Given the description of an element on the screen output the (x, y) to click on. 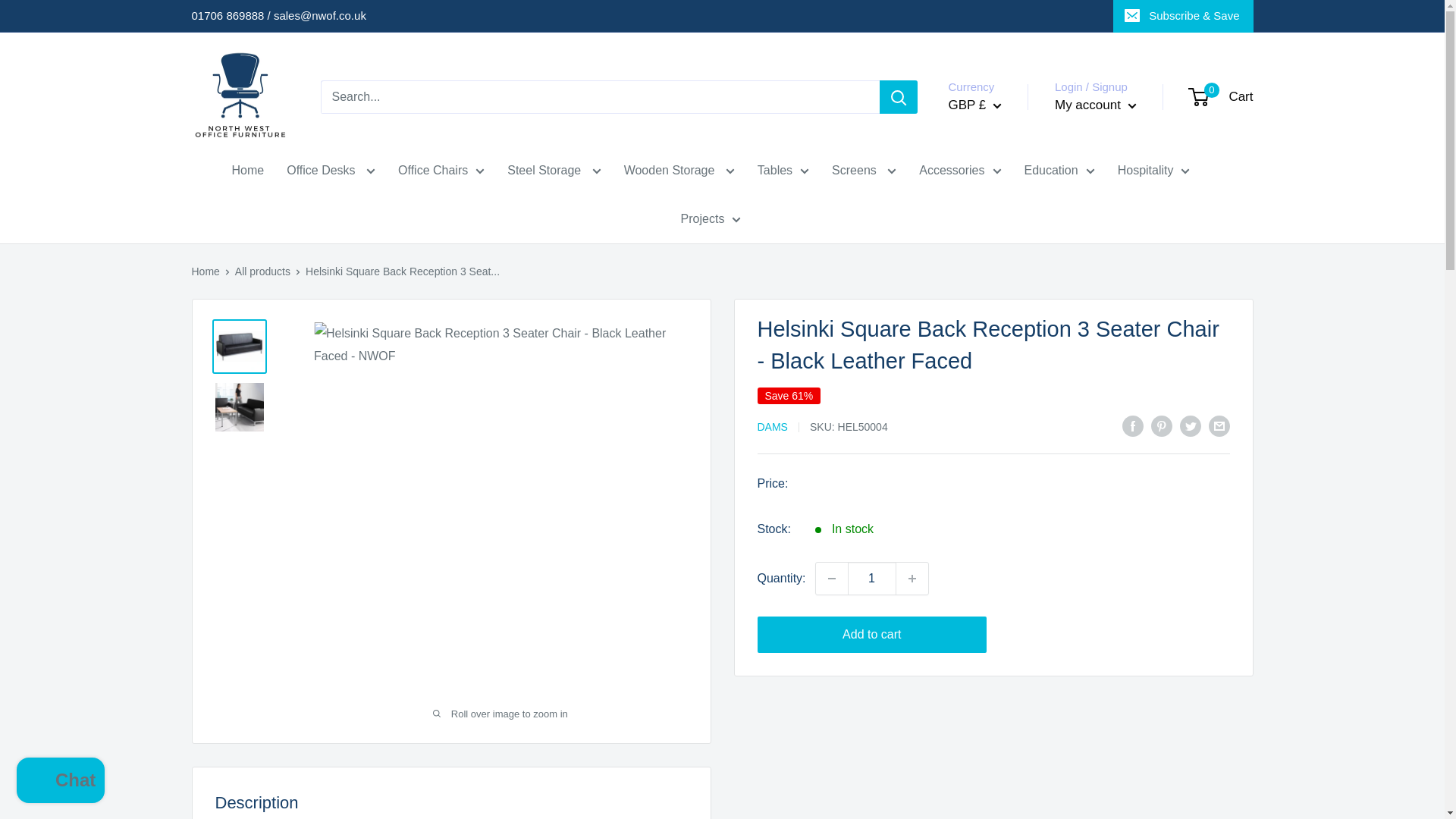
Shopify online store chat (60, 781)
Increase quantity by 1 (912, 578)
1 (871, 578)
Decrease quantity by 1 (831, 578)
